Given the description of an element on the screen output the (x, y) to click on. 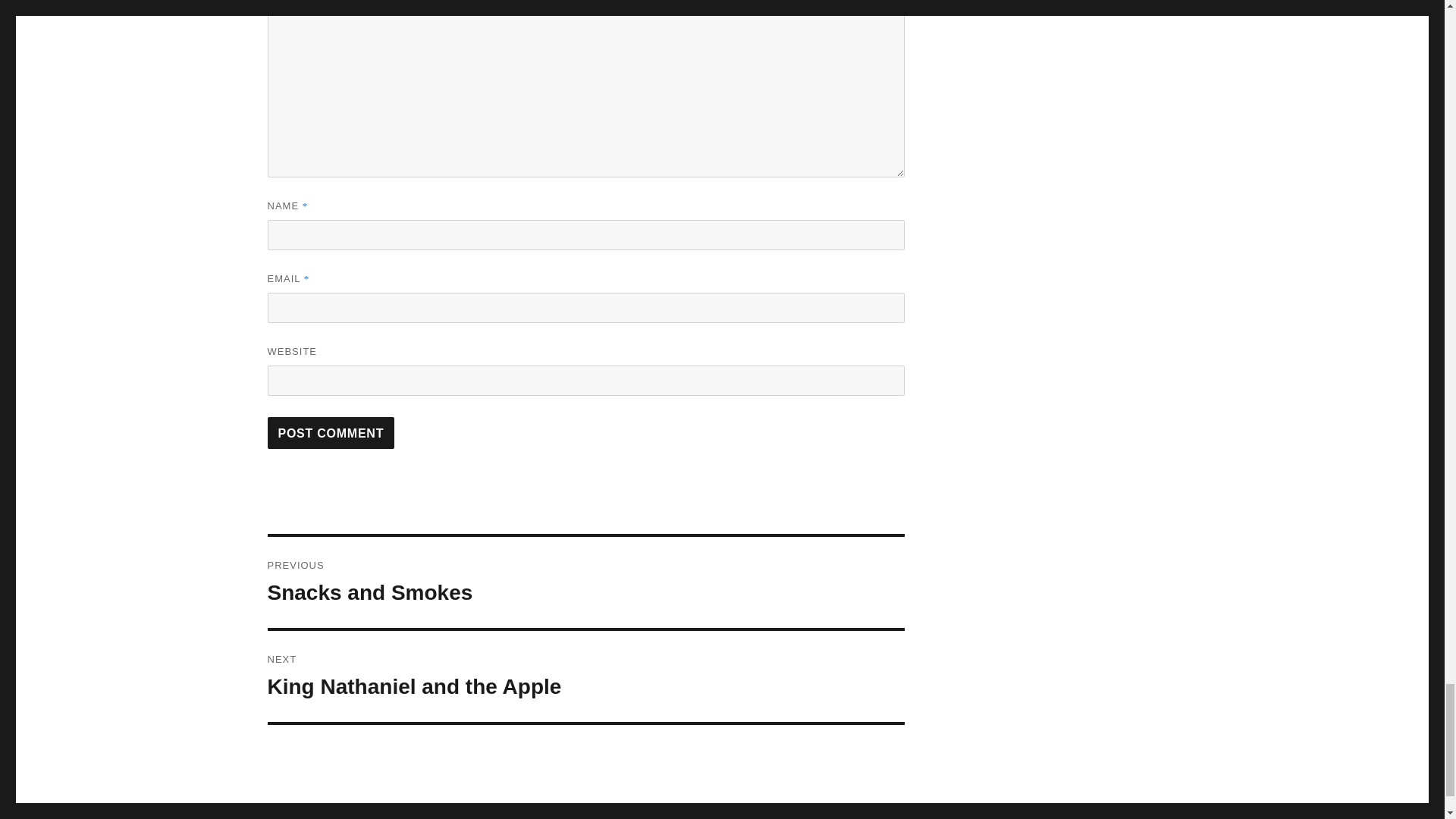
Post Comment (330, 432)
Post Comment (330, 432)
